Given the description of an element on the screen output the (x, y) to click on. 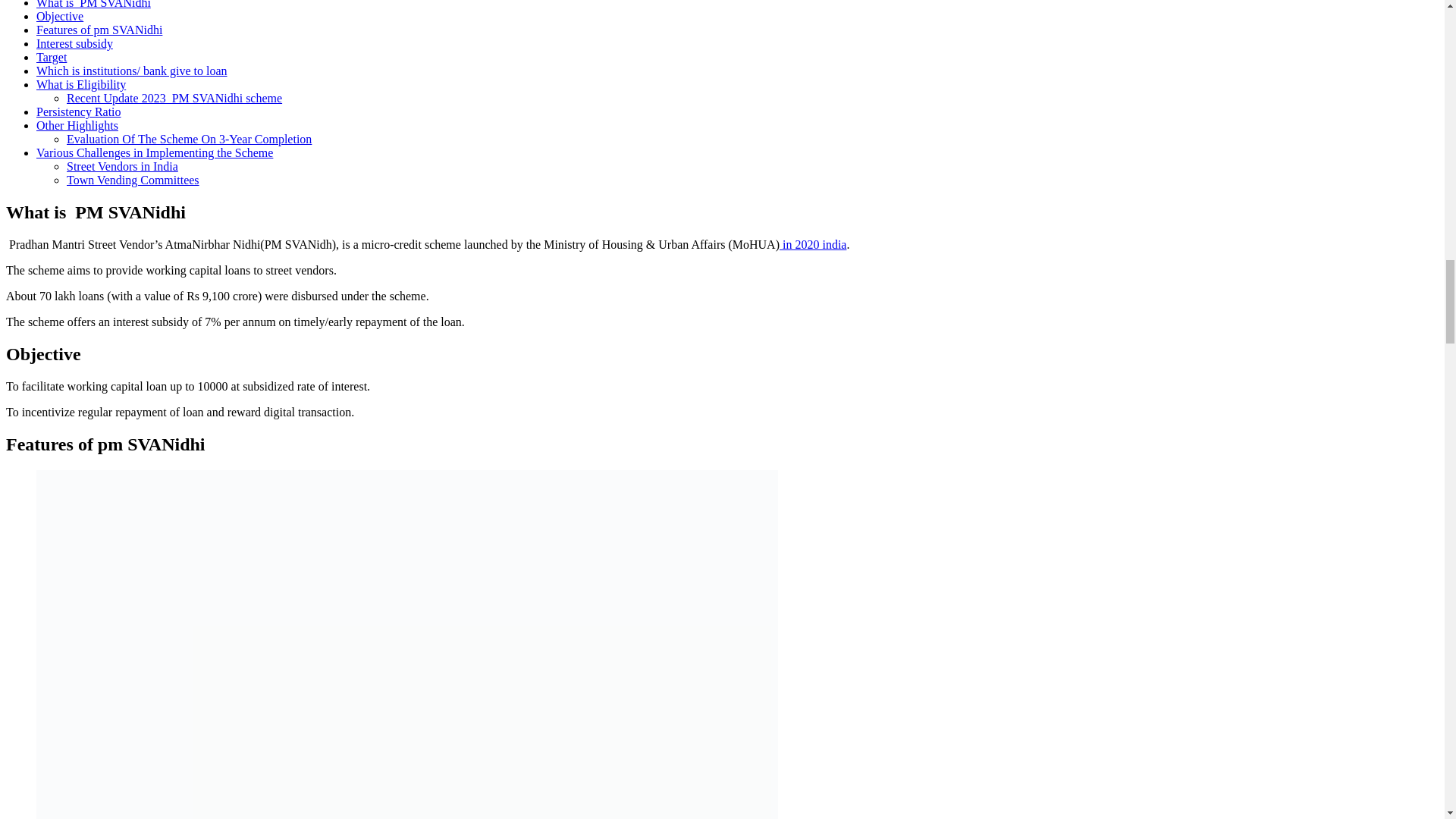
What is  PM SVANidhi (93, 4)
Interest subsidy (74, 42)
Target (51, 56)
Features of pm SVANidhi (98, 29)
Persistency Ratio (78, 111)
Recent Update 2023  PM SVANidhi scheme (174, 97)
Objective (59, 15)
What is Eligibility (80, 83)
